Given the description of an element on the screen output the (x, y) to click on. 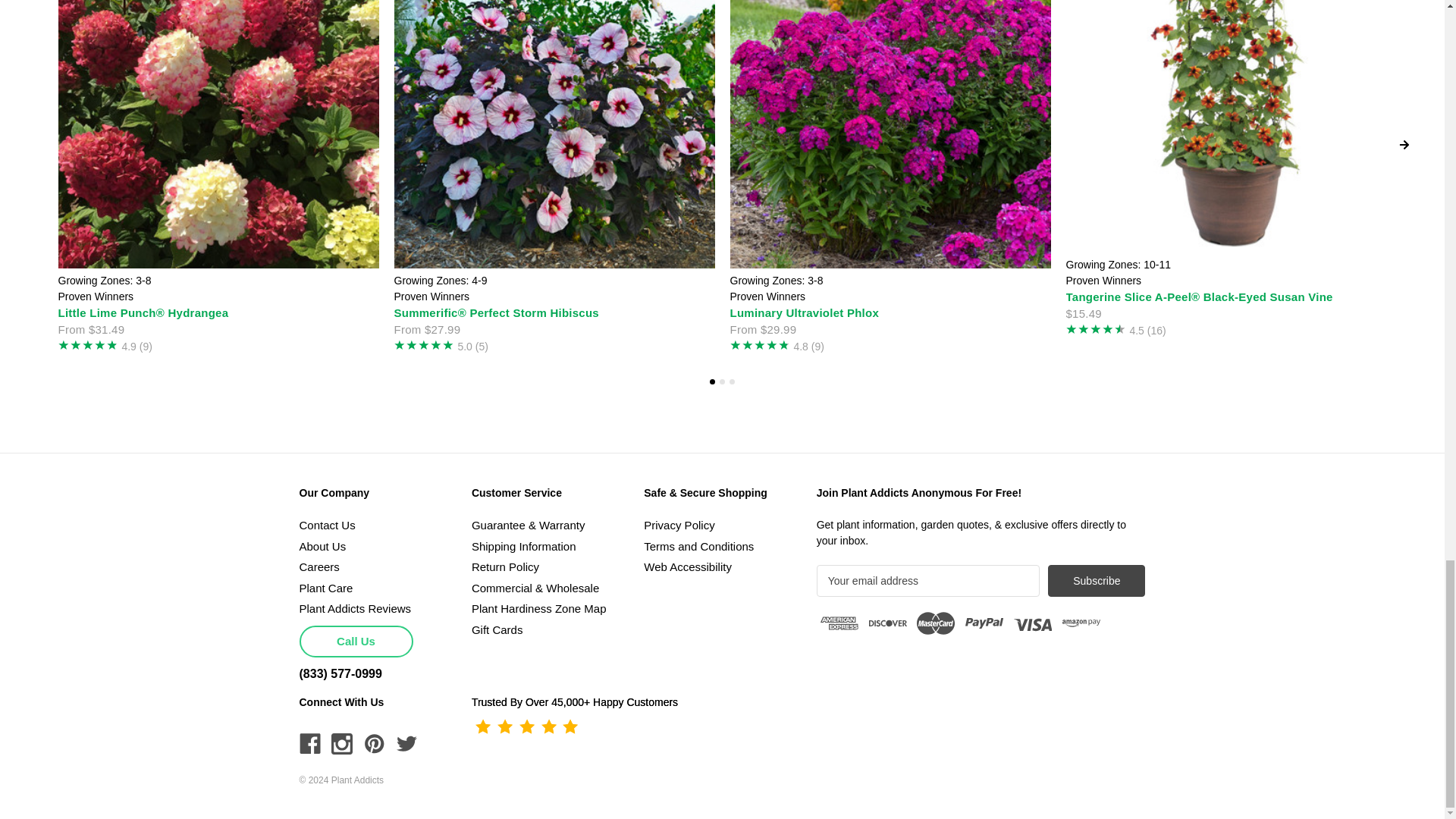
Subscribe (1096, 581)
